Given the description of an element on the screen output the (x, y) to click on. 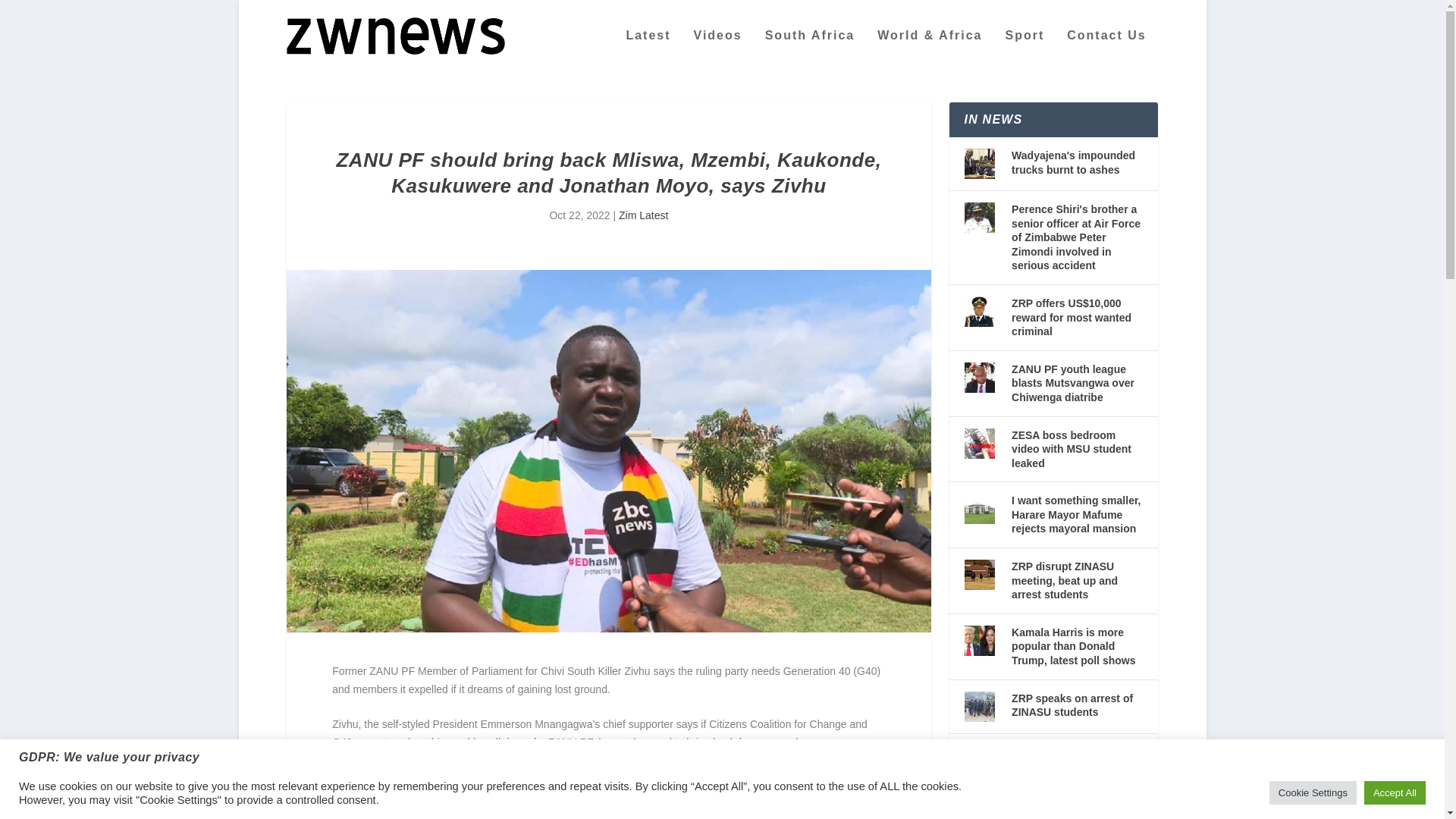
Latest (647, 50)
Zim Latest (643, 215)
South Africa (810, 50)
Videos (718, 50)
